Given the description of an element on the screen output the (x, y) to click on. 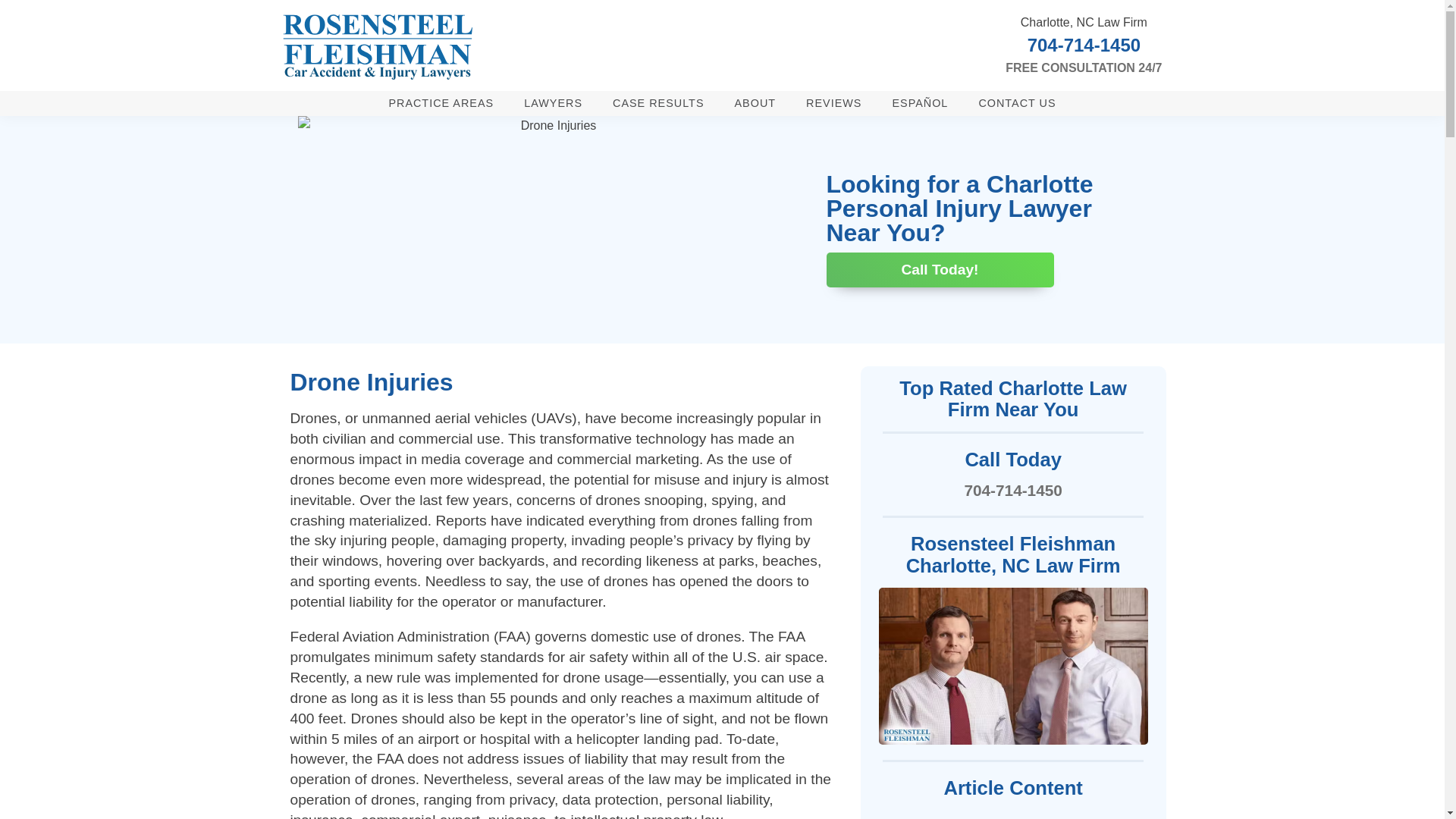
LAWYERS (552, 103)
704-714-1450 (1083, 45)
PRACTICE AREAS (440, 103)
CASE RESULTS (657, 103)
